Given the description of an element on the screen output the (x, y) to click on. 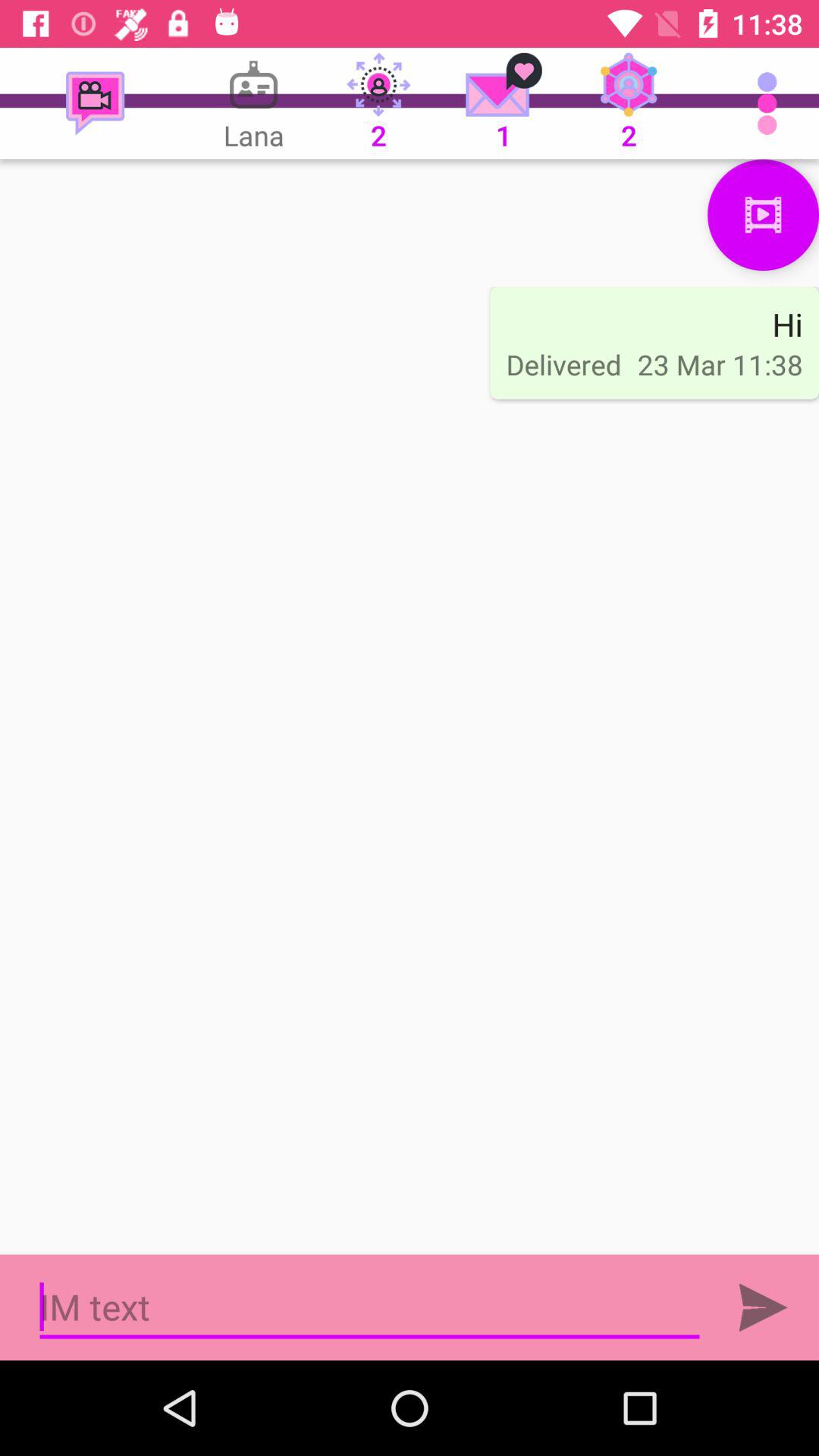
send message (763, 1307)
